Given the description of an element on the screen output the (x, y) to click on. 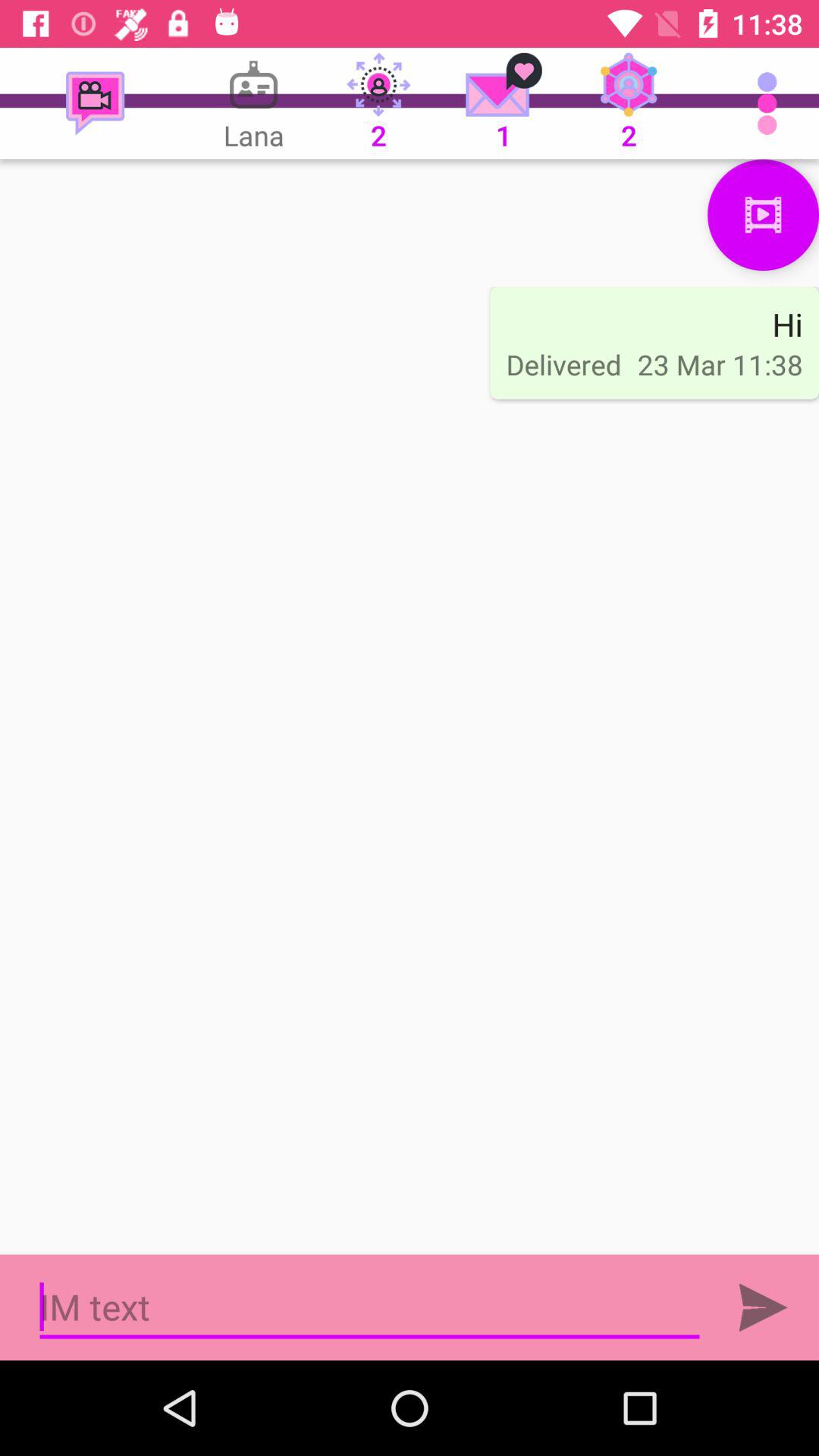
send message (763, 1307)
